Given the description of an element on the screen output the (x, y) to click on. 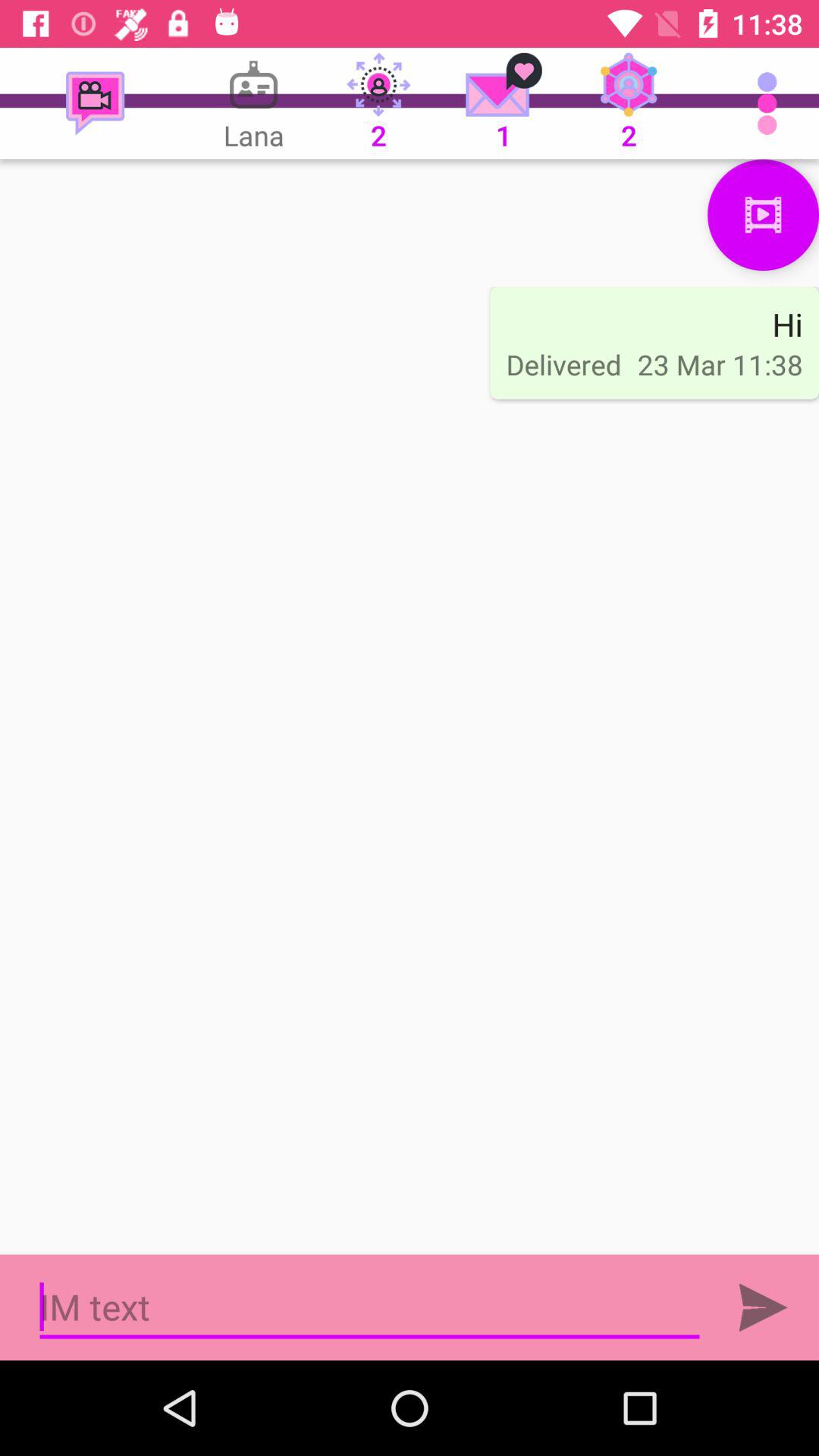
send message (763, 1307)
